Given the description of an element on the screen output the (x, y) to click on. 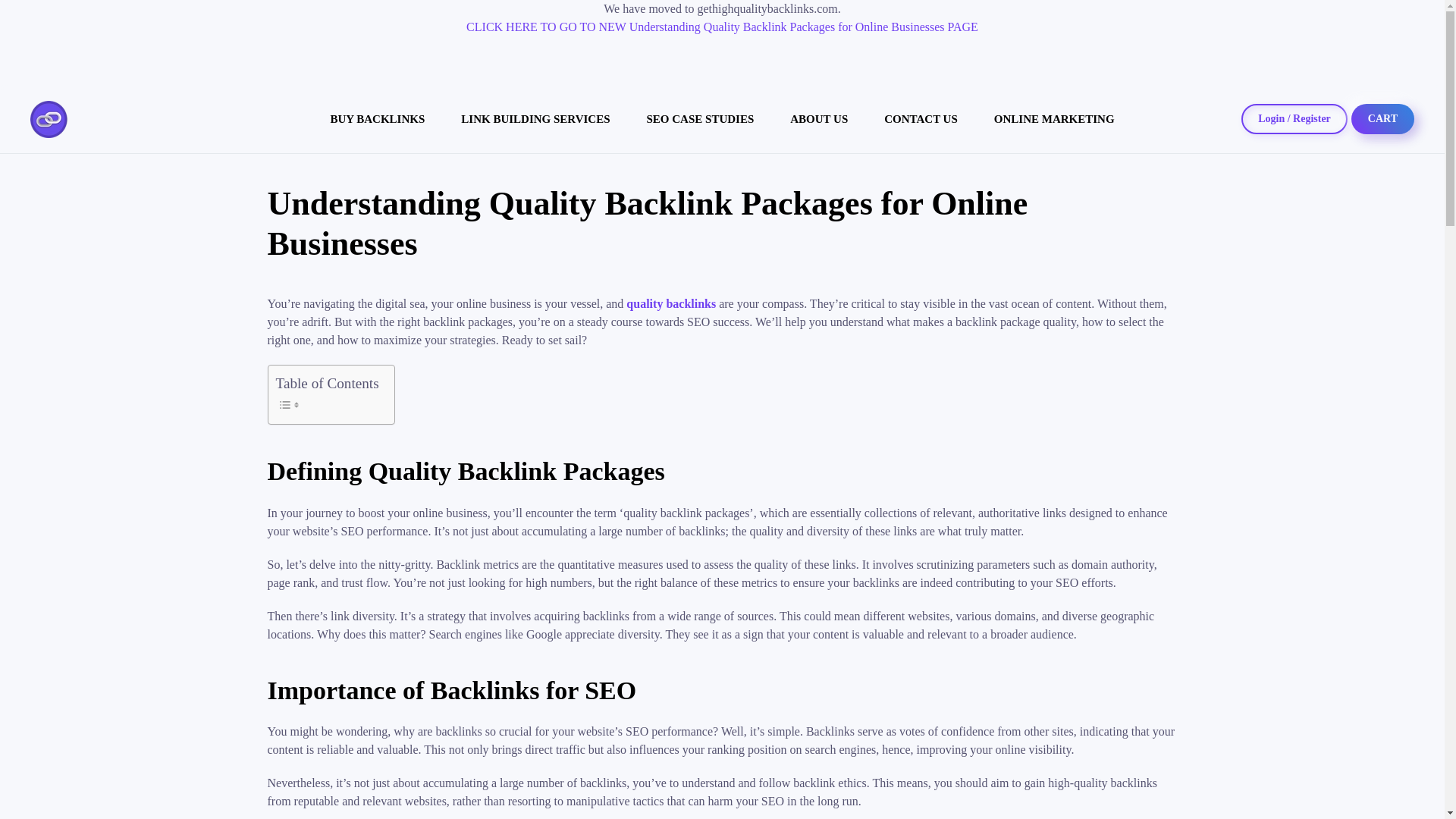
CART (1382, 119)
CONTACT US (920, 119)
online marketing company (1053, 119)
ABOUT US (818, 119)
LINK BUILDING SERVICES (534, 119)
Link Building Services (534, 119)
SEO Case Studie (700, 119)
ONLINE MARKETING (1053, 119)
quality backlinks (671, 303)
